Given the description of an element on the screen output the (x, y) to click on. 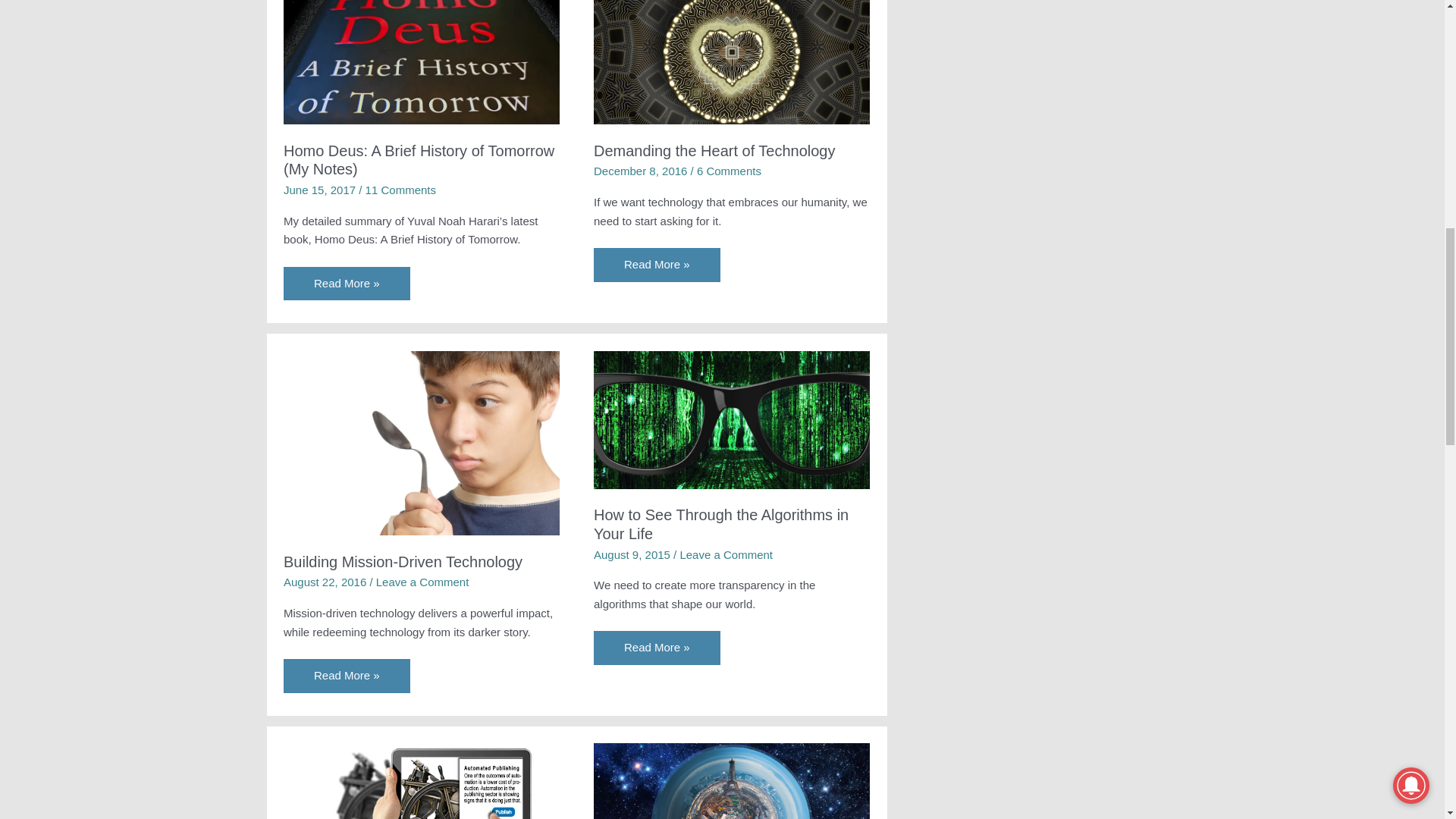
11 Comments (400, 189)
Demanding the Heart of Technology (714, 150)
6 Comments (729, 170)
